Given the description of an element on the screen output the (x, y) to click on. 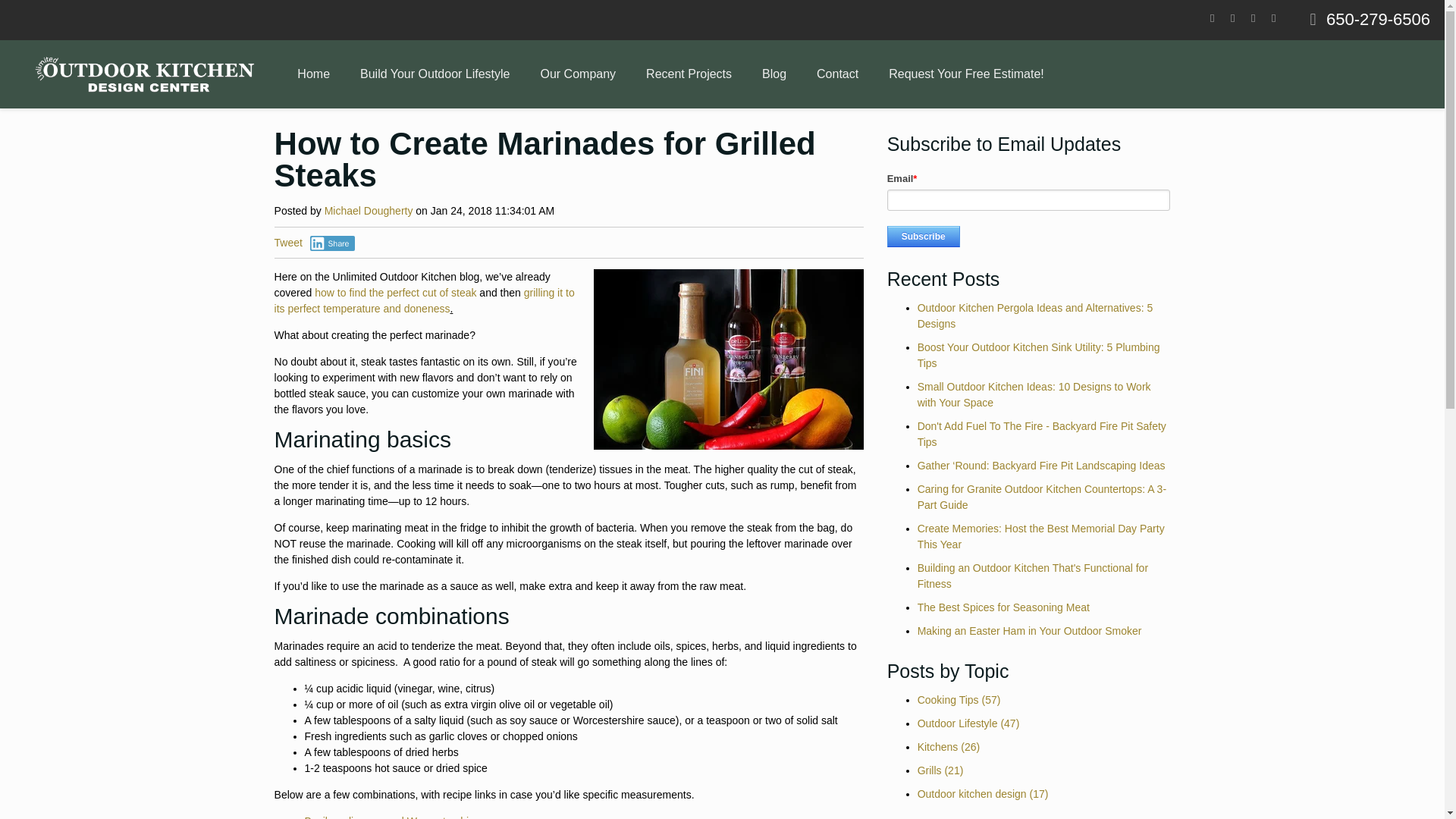
650-279-6506 (1377, 18)
Our Company (577, 74)
Subscribe (922, 236)
Twitter (1232, 17)
Facebook (1212, 17)
Contact (837, 74)
Build Your Outdoor Lifestyle (434, 74)
Request Your Free Estimate! (966, 74)
Recent Projects (688, 74)
Pinterest (1252, 17)
Home (313, 74)
